Given the description of an element on the screen output the (x, y) to click on. 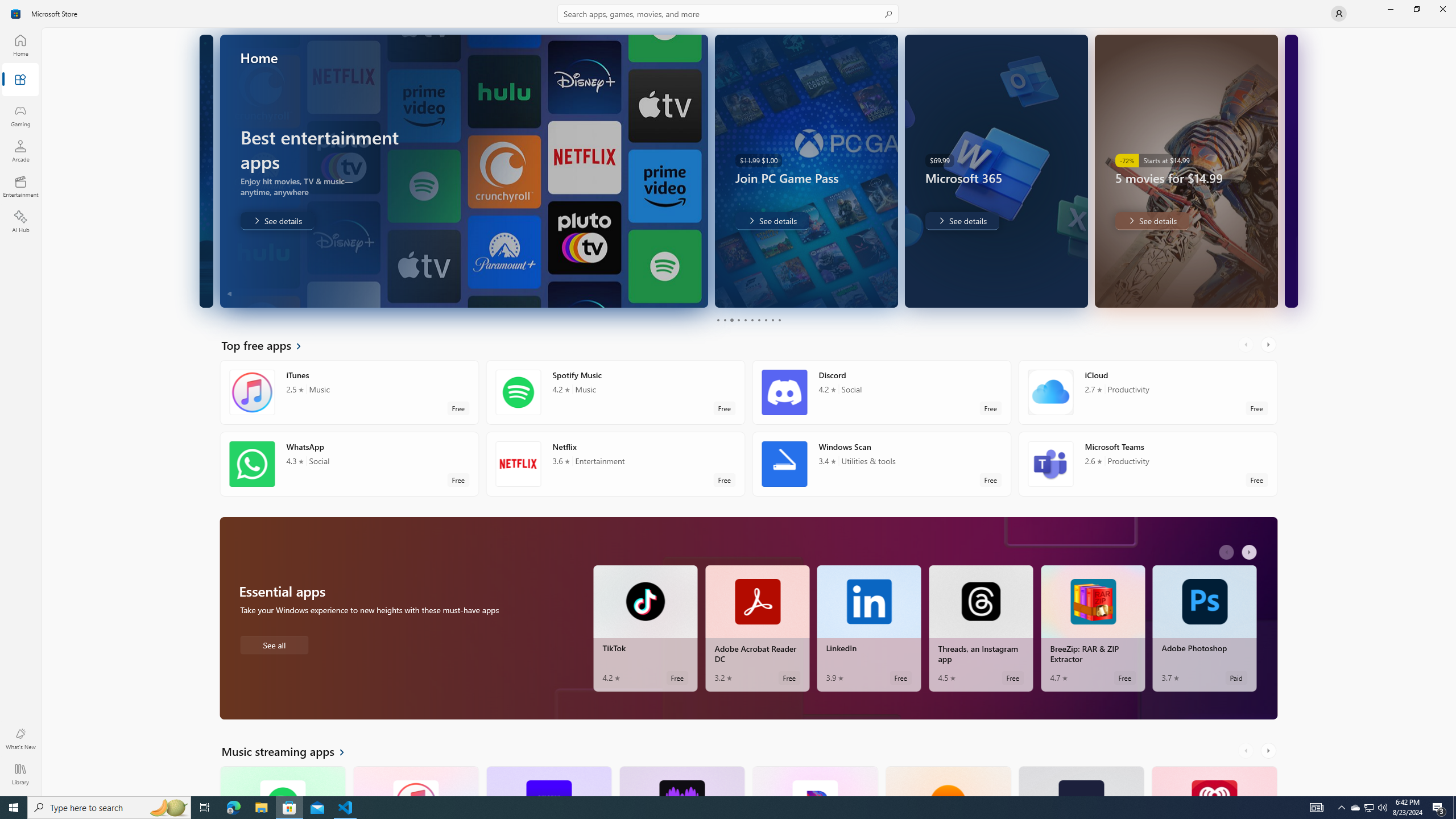
See all  Essential apps (274, 644)
Gaming (20, 115)
LinkedIn. Average rating of 3.9 out of five stars. Free   (868, 628)
Discord. Average rating of 4.2 out of five stars. Free   (881, 392)
Arcade (20, 150)
Page 10 (779, 319)
Library (20, 773)
Apps (20, 80)
AI Hub (20, 221)
Minimize Microsoft Store (1390, 9)
AutomationID: RightScrollButton (1269, 750)
